Given the description of an element on the screen output the (x, y) to click on. 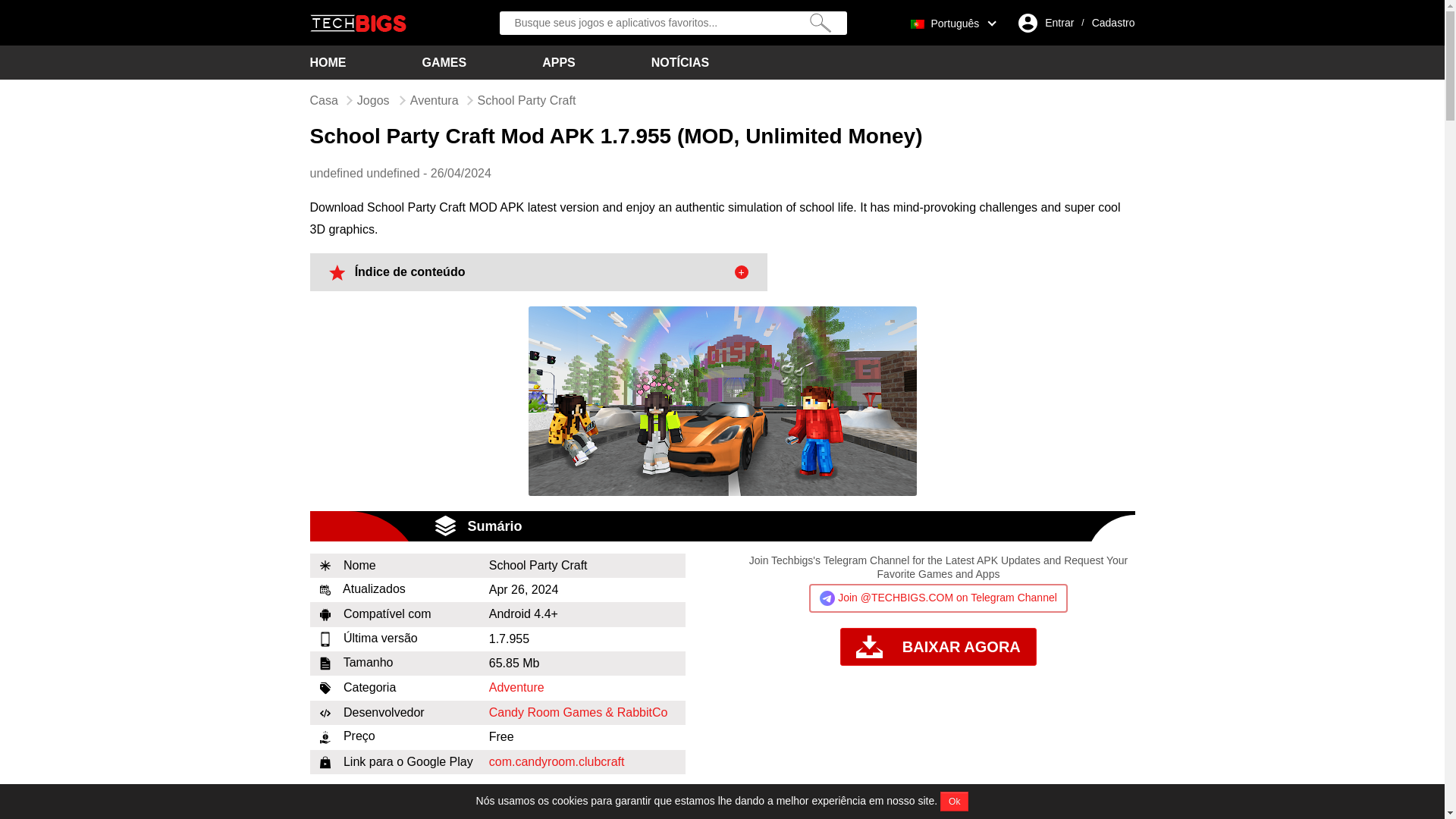
Jogos (373, 100)
APPS (558, 62)
HOME (327, 62)
com.candyroom.clubcraft (556, 761)
Entrar (1059, 23)
GAMES (443, 62)
BAIXAR AGORA (938, 647)
Adventure (516, 686)
Apps (558, 62)
Casa (322, 100)
